Given the description of an element on the screen output the (x, y) to click on. 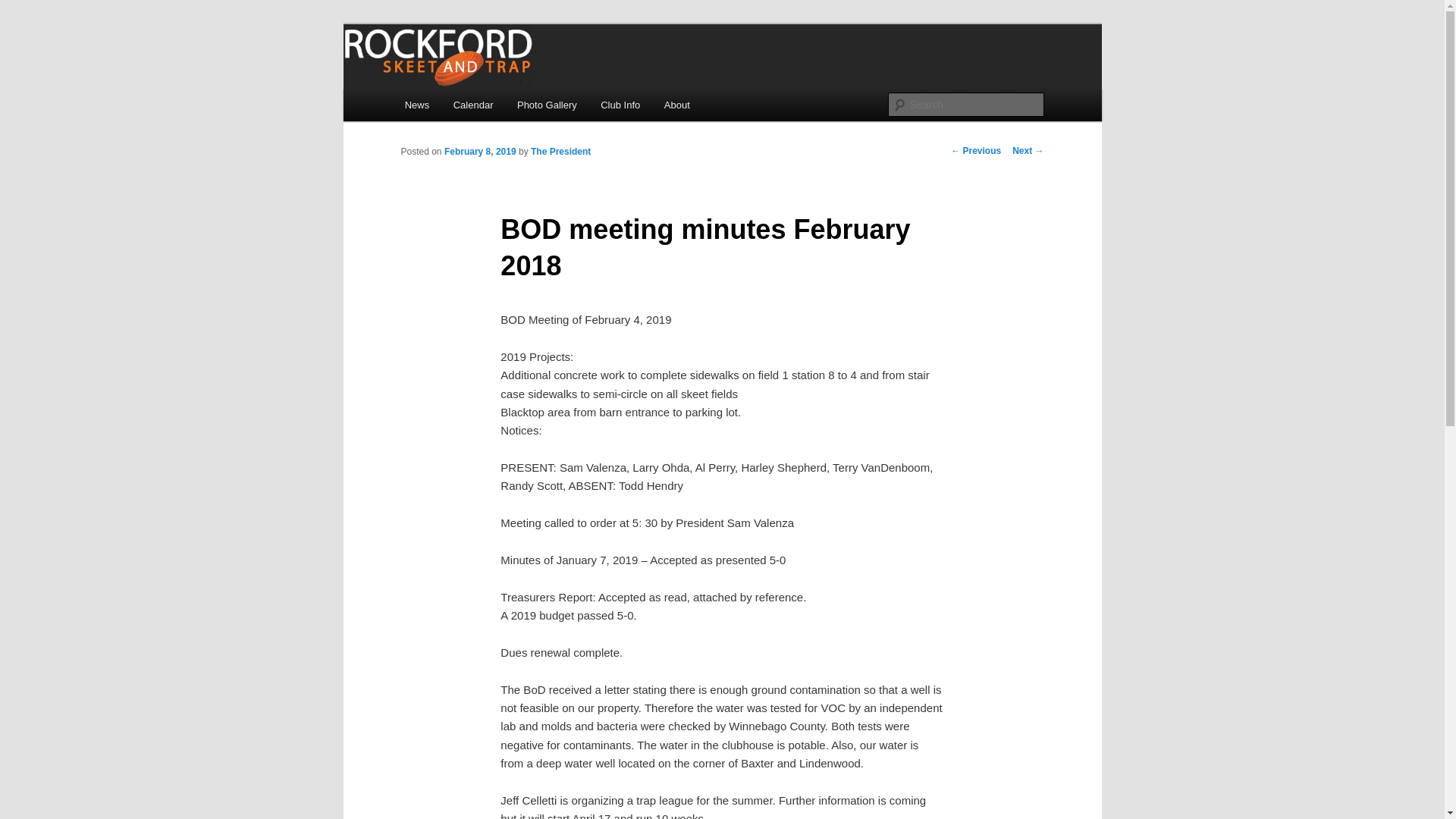
Photo Gallery (546, 104)
News (417, 104)
10:33 am (480, 151)
Club Info (620, 104)
The President (561, 151)
Search (24, 8)
About (676, 104)
February 8, 2019 (480, 151)
View all posts by The President (561, 151)
Calendar (473, 104)
